Given the description of an element on the screen output the (x, y) to click on. 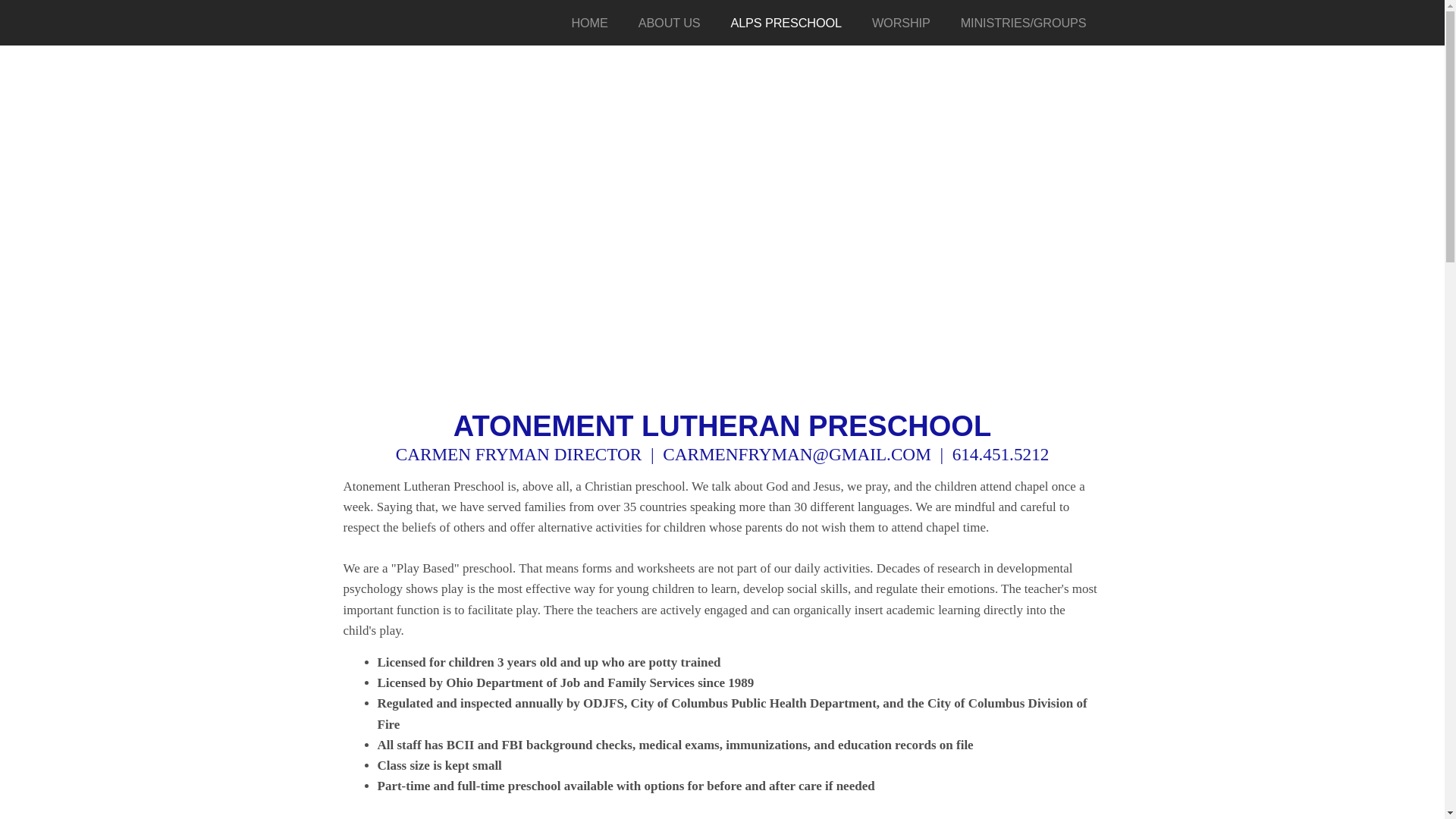
HOME (589, 22)
WORSHIP (900, 22)
ALPS PRESCHOOL (785, 22)
ABOUT US (669, 22)
